Given the description of an element on the screen output the (x, y) to click on. 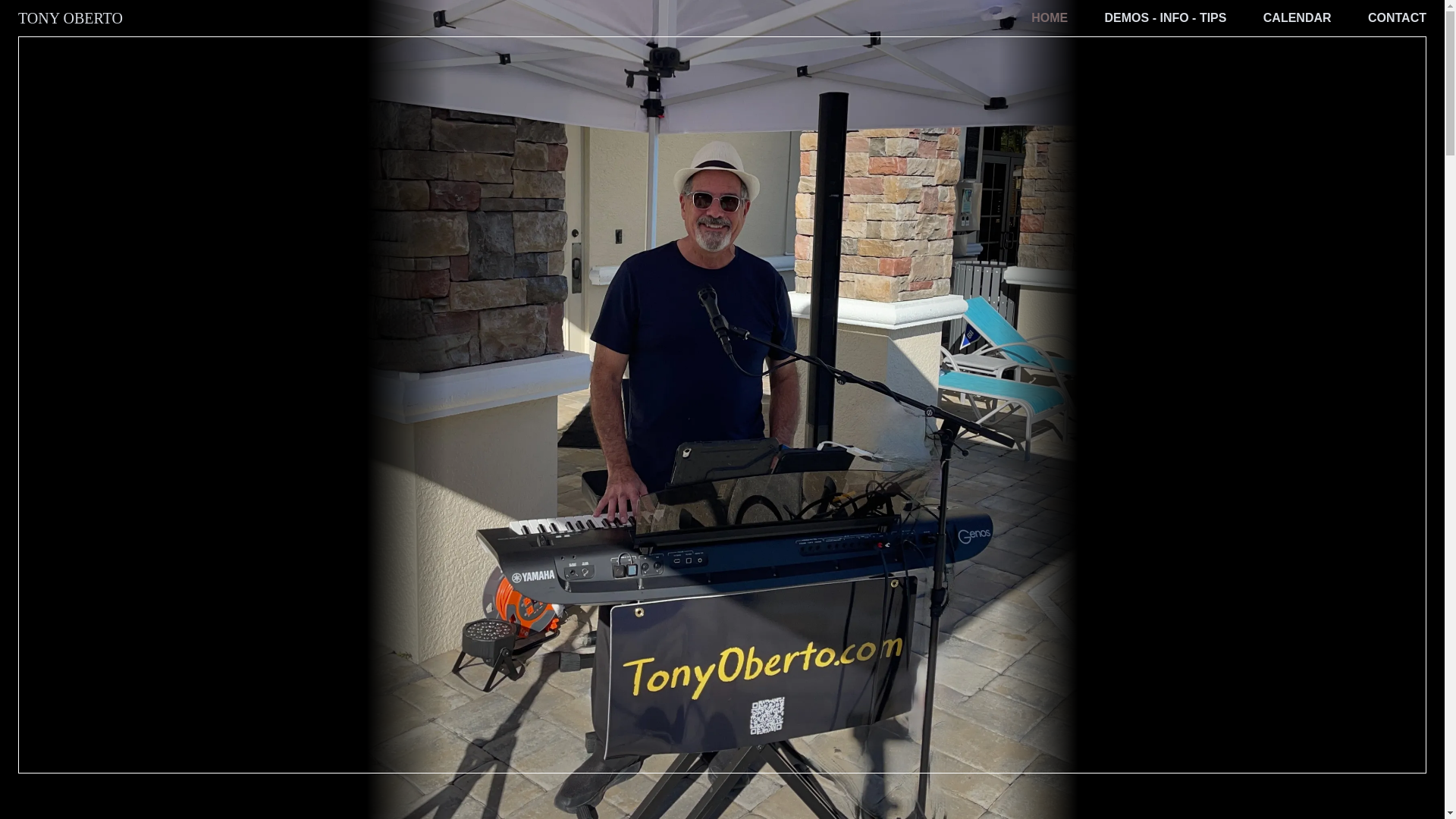
HOME (1048, 18)
DEMOS - INFO - TIPS (1166, 18)
TONY OBERTO (69, 17)
CONTACT (1397, 18)
CALENDAR (1297, 18)
